Given the description of an element on the screen output the (x, y) to click on. 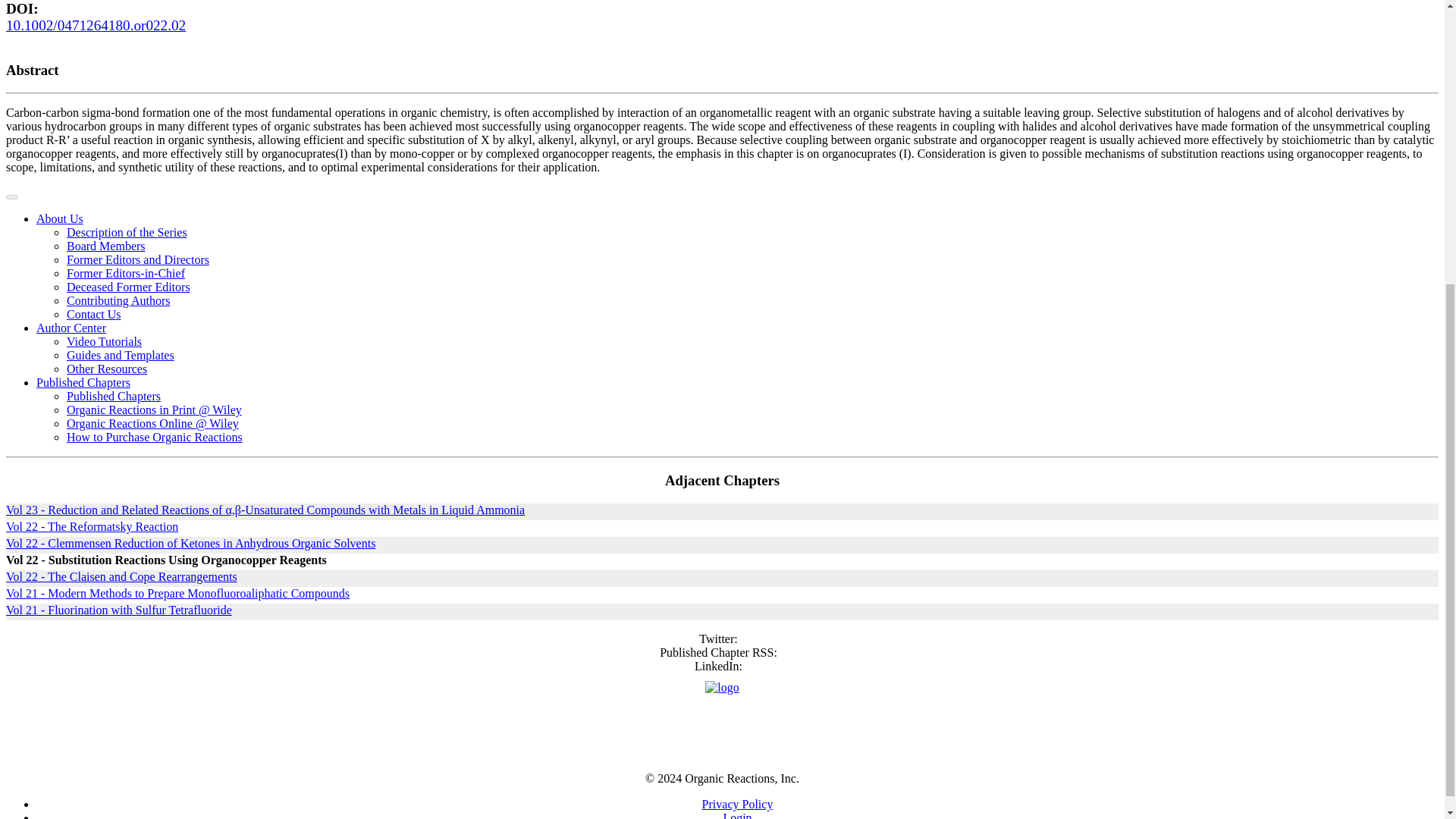
Contact Us (93, 314)
Other Resources (106, 368)
Former Editors-in-Chief (125, 273)
Contributing Authors (118, 300)
Guides and Templates (120, 354)
Former Editors and Directors (137, 259)
How to Purchase Organic Reactions (154, 436)
Deceased Former Editors (128, 286)
Published Chapters (113, 395)
About Us (59, 218)
Board Members (105, 245)
Published Chapters (83, 382)
Description of the Series (126, 232)
Author Center (71, 327)
Video Tutorials (103, 341)
